Given the description of an element on the screen output the (x, y) to click on. 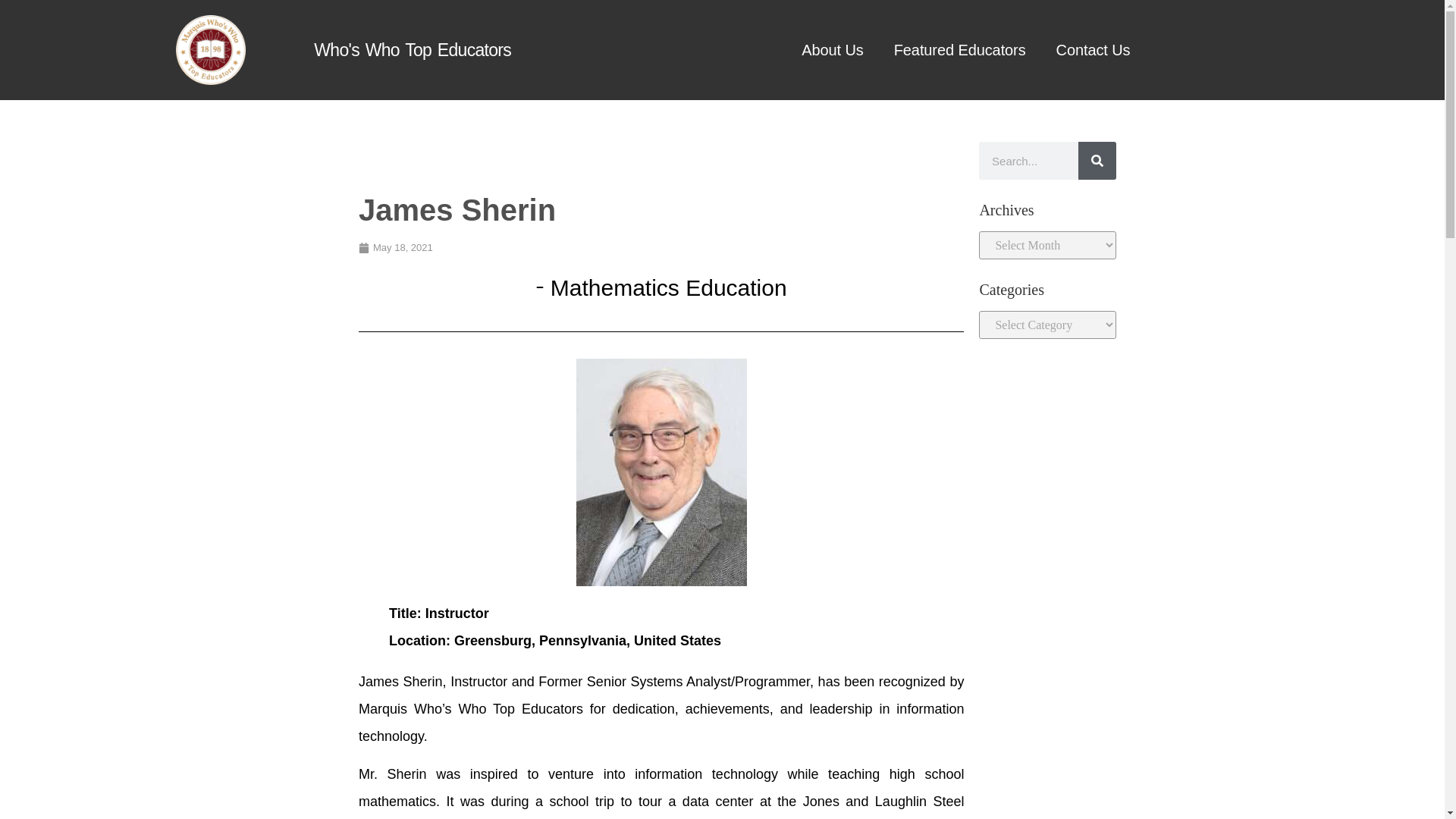
About Us (831, 49)
May 18, 2021 (395, 247)
Featured Educators (960, 49)
Who's Who Top Educators (412, 48)
Contact Us (1093, 49)
Mathematics Education (668, 286)
